Given the description of an element on the screen output the (x, y) to click on. 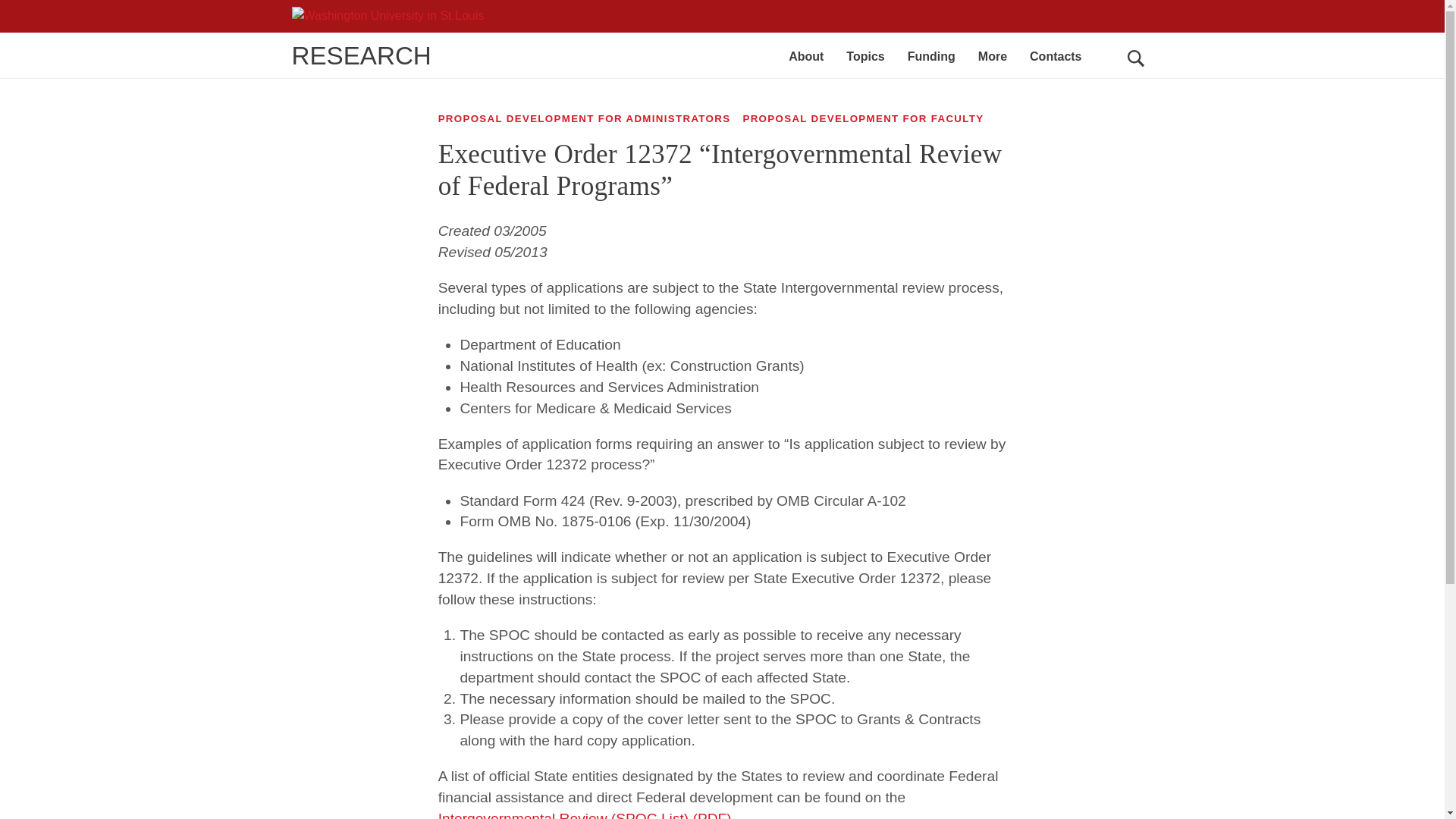
RESEARCH (360, 55)
Funding (931, 55)
